Given the description of an element on the screen output the (x, y) to click on. 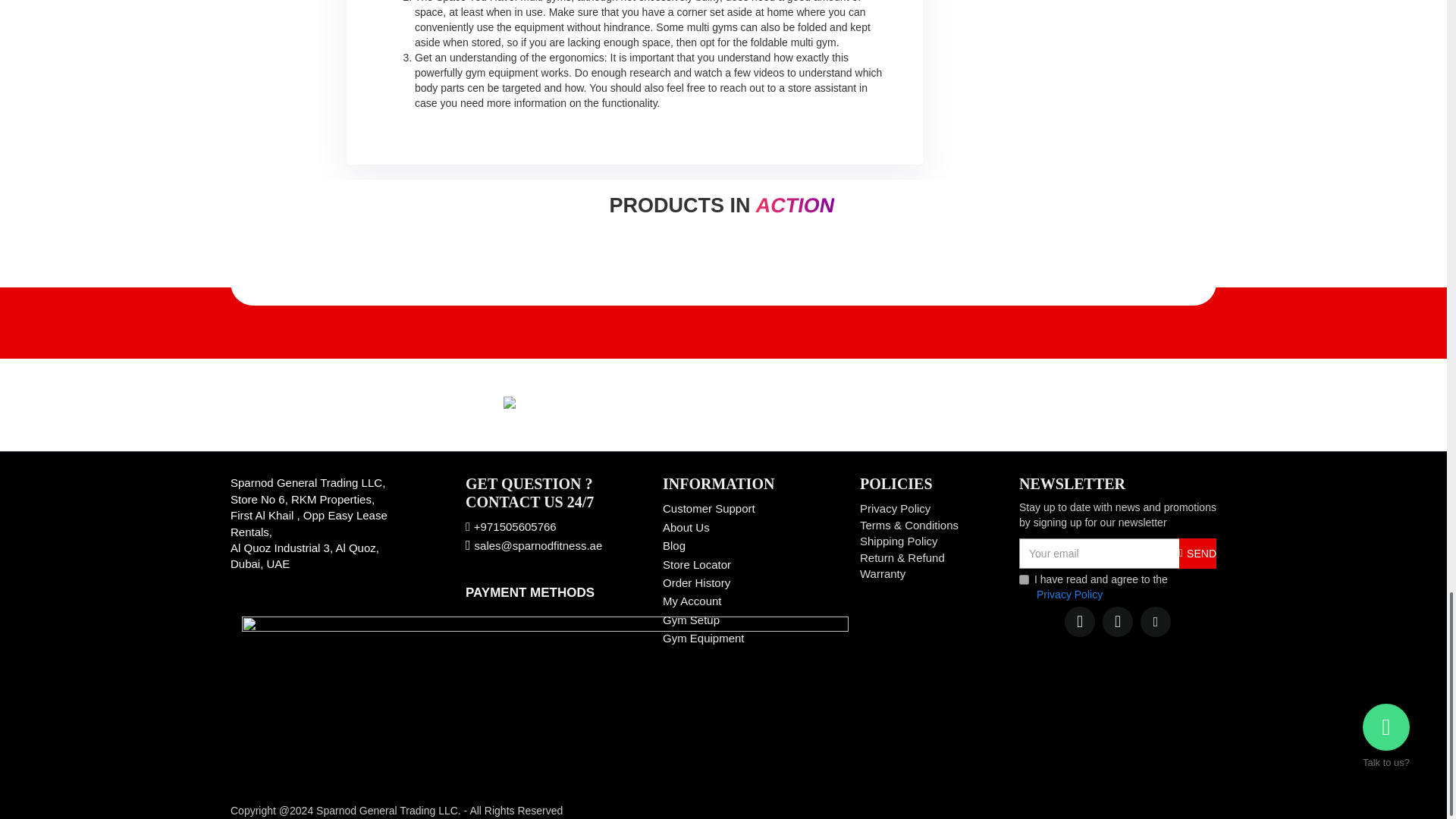
1 (1024, 579)
